Given the description of an element on the screen output the (x, y) to click on. 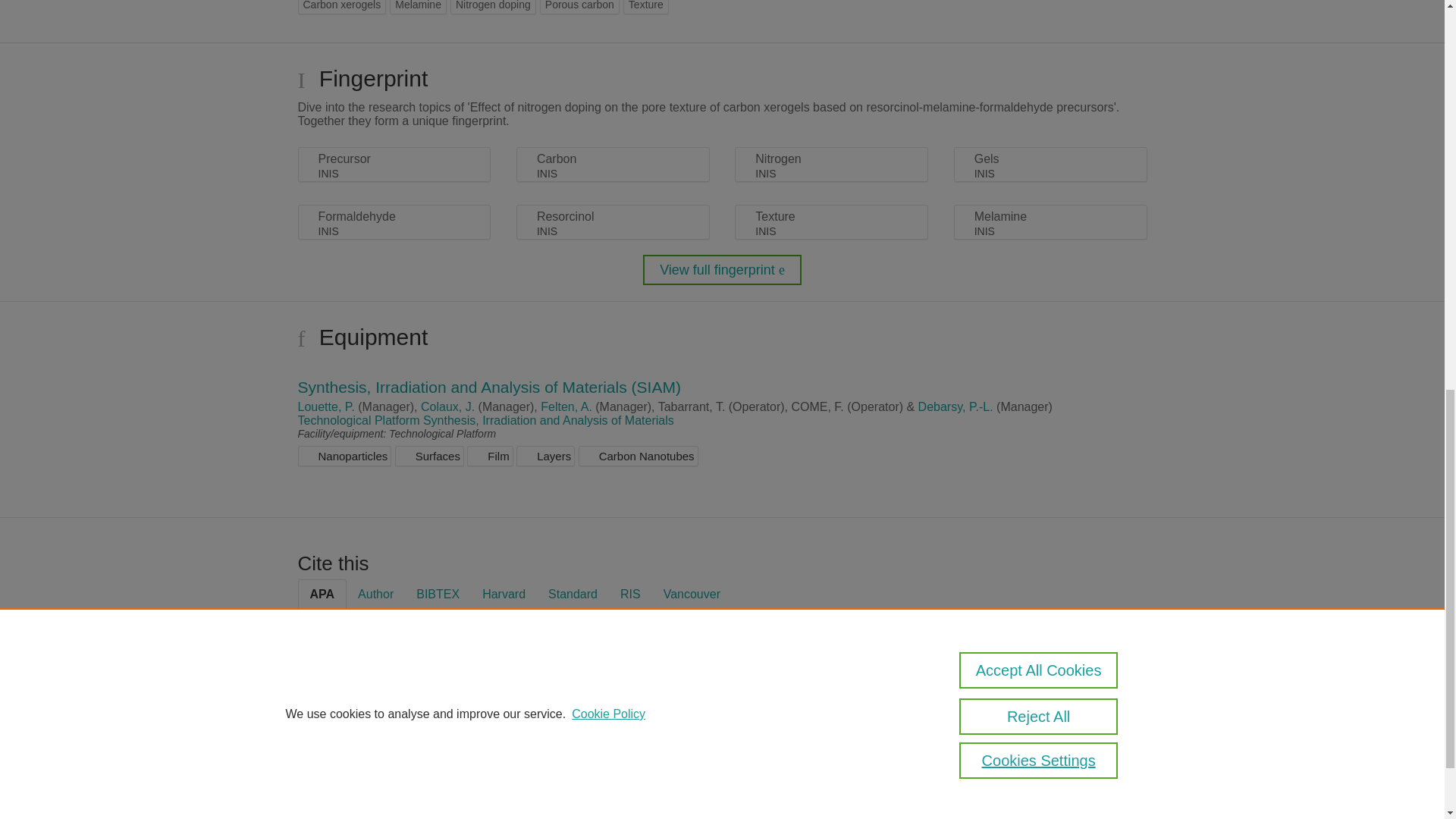
View full fingerprint (722, 269)
